Given the description of an element on the screen output the (x, y) to click on. 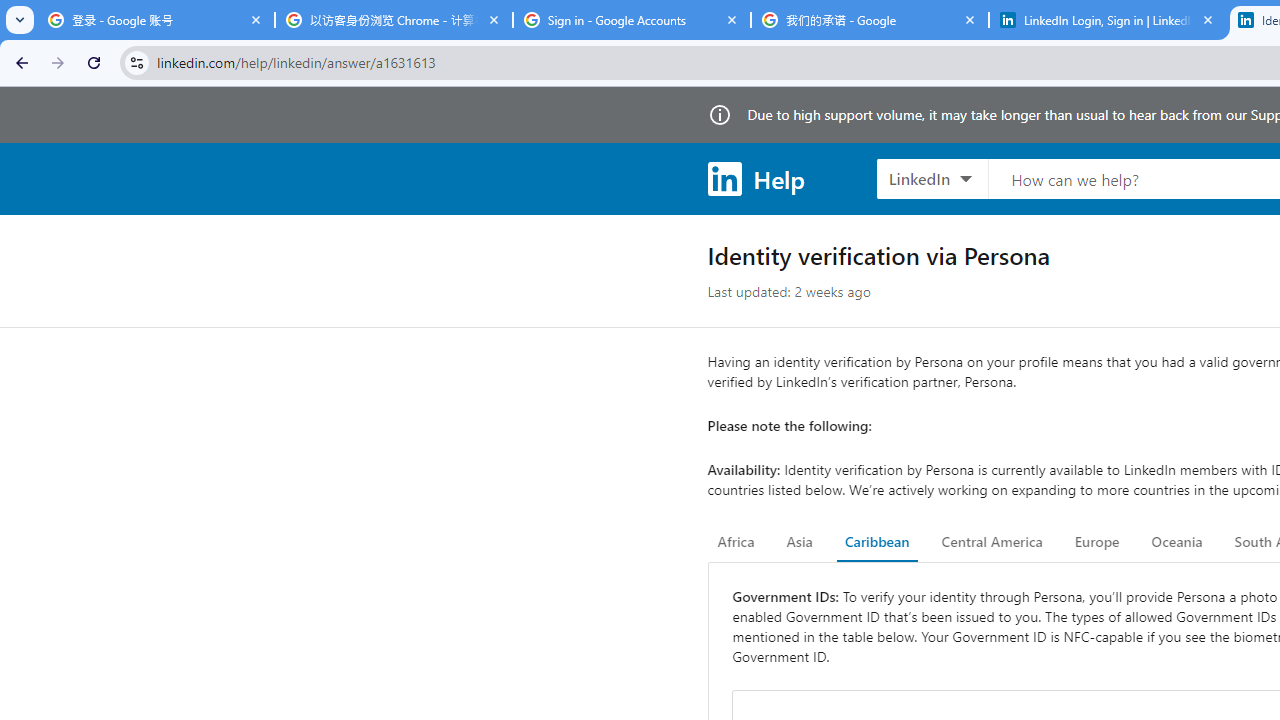
Africa (735, 542)
Asia (799, 542)
Europe (1096, 542)
Caribbean (876, 542)
Sign in - Google Accounts (632, 20)
LinkedIn products to search, LinkedIn selected (932, 178)
